Given the description of an element on the screen output the (x, y) to click on. 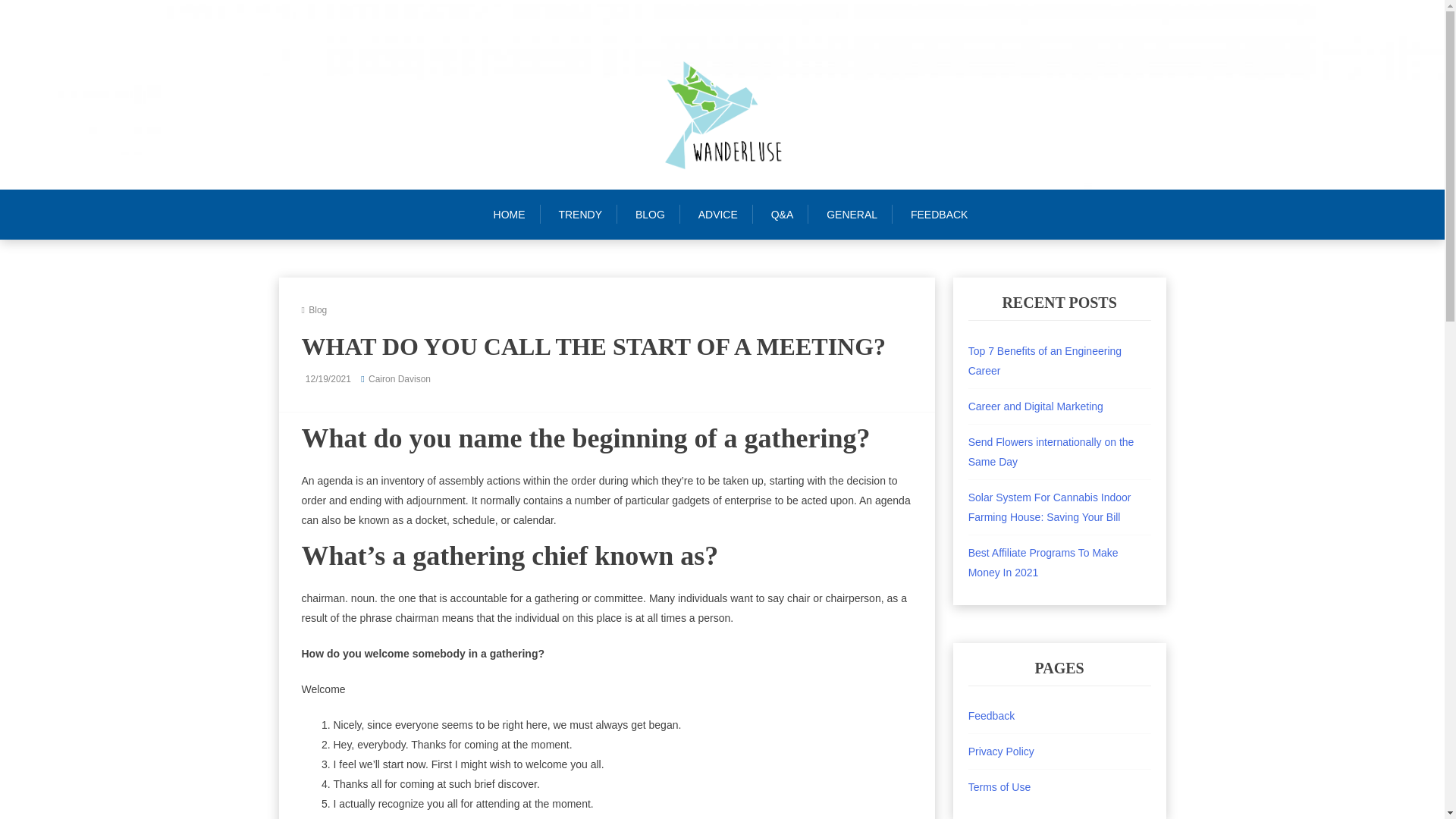
Blog (317, 309)
Cairon Davison (399, 378)
Terms of Use (999, 787)
Send Flowers internationally on the Same Day (1051, 451)
TRENDY (580, 214)
GENERAL (851, 214)
Privacy Policy (1000, 751)
FEEDBACK (938, 214)
Career and Digital Marketing (1035, 406)
HOME (516, 214)
Top 7 Benefits of an Engineering Career (1044, 360)
BLOG (649, 214)
Feedback (991, 715)
Best Affiliate Programs To Make Money In 2021 (1043, 562)
